Given the description of an element on the screen output the (x, y) to click on. 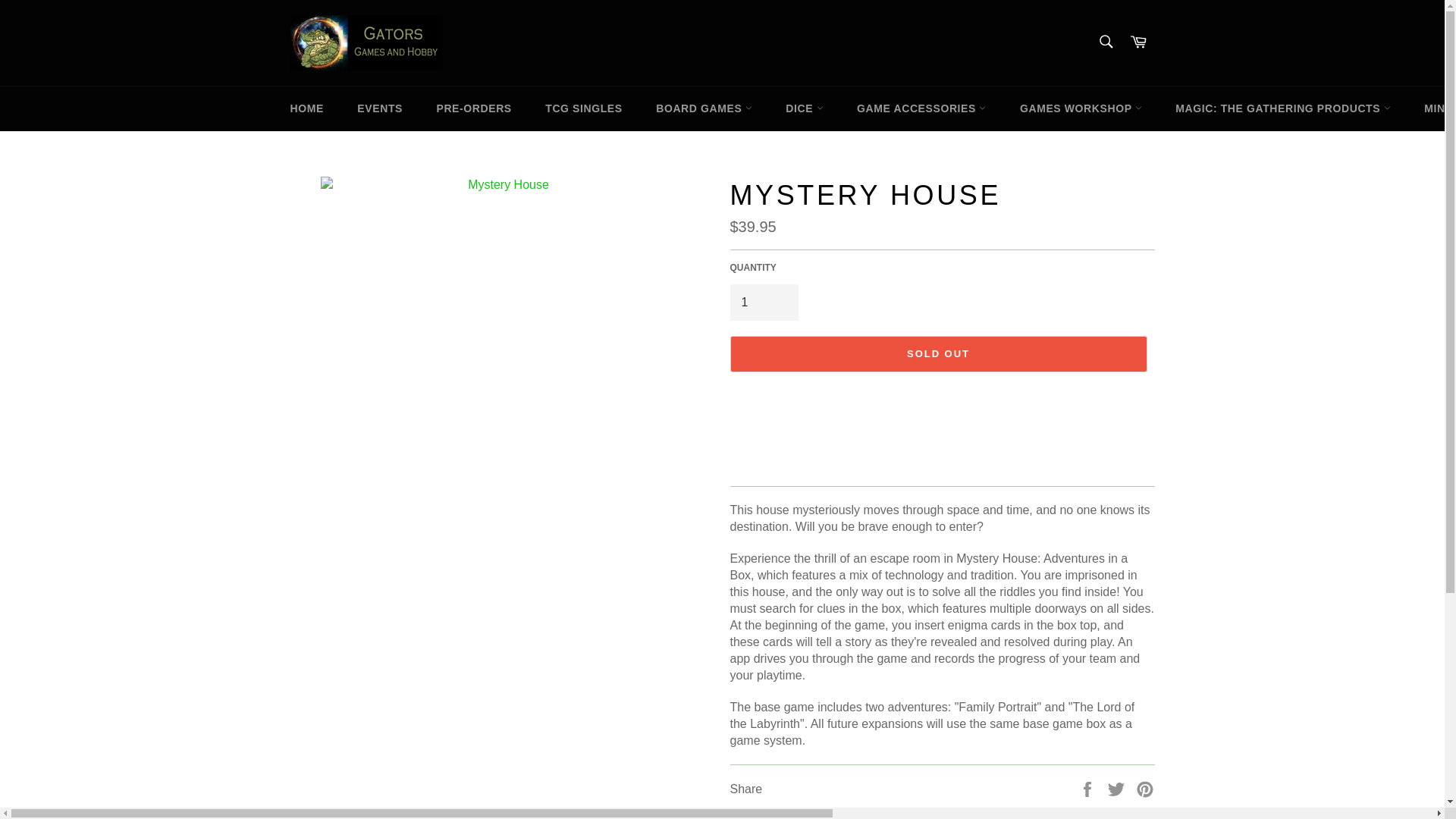
Tweet on Twitter (1117, 788)
Share on Facebook (1088, 788)
1 (763, 302)
Pin on Pinterest (1144, 788)
